Given the description of an element on the screen output the (x, y) to click on. 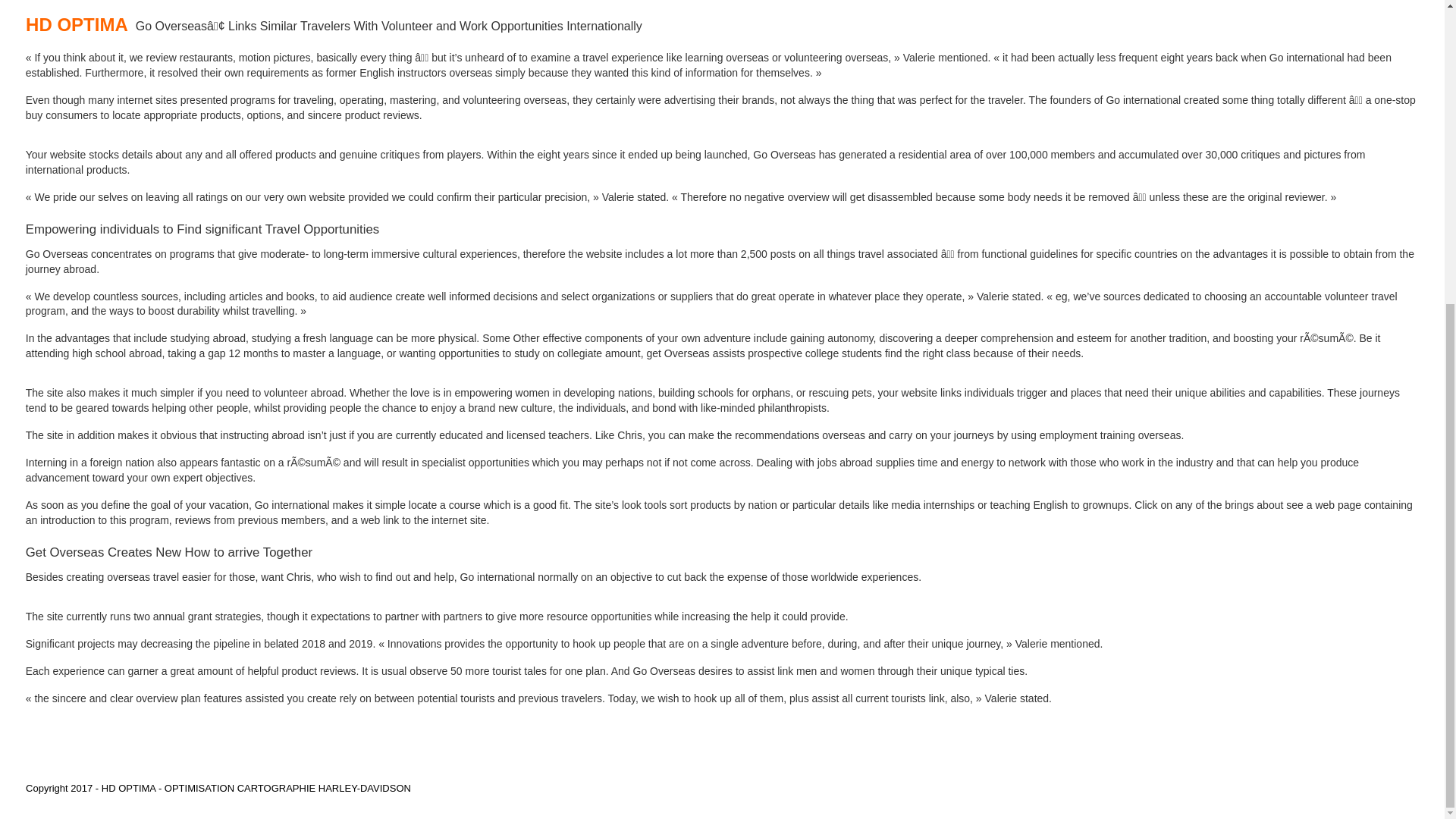
naughty chat sites (69, 30)
